Given the description of an element on the screen output the (x, y) to click on. 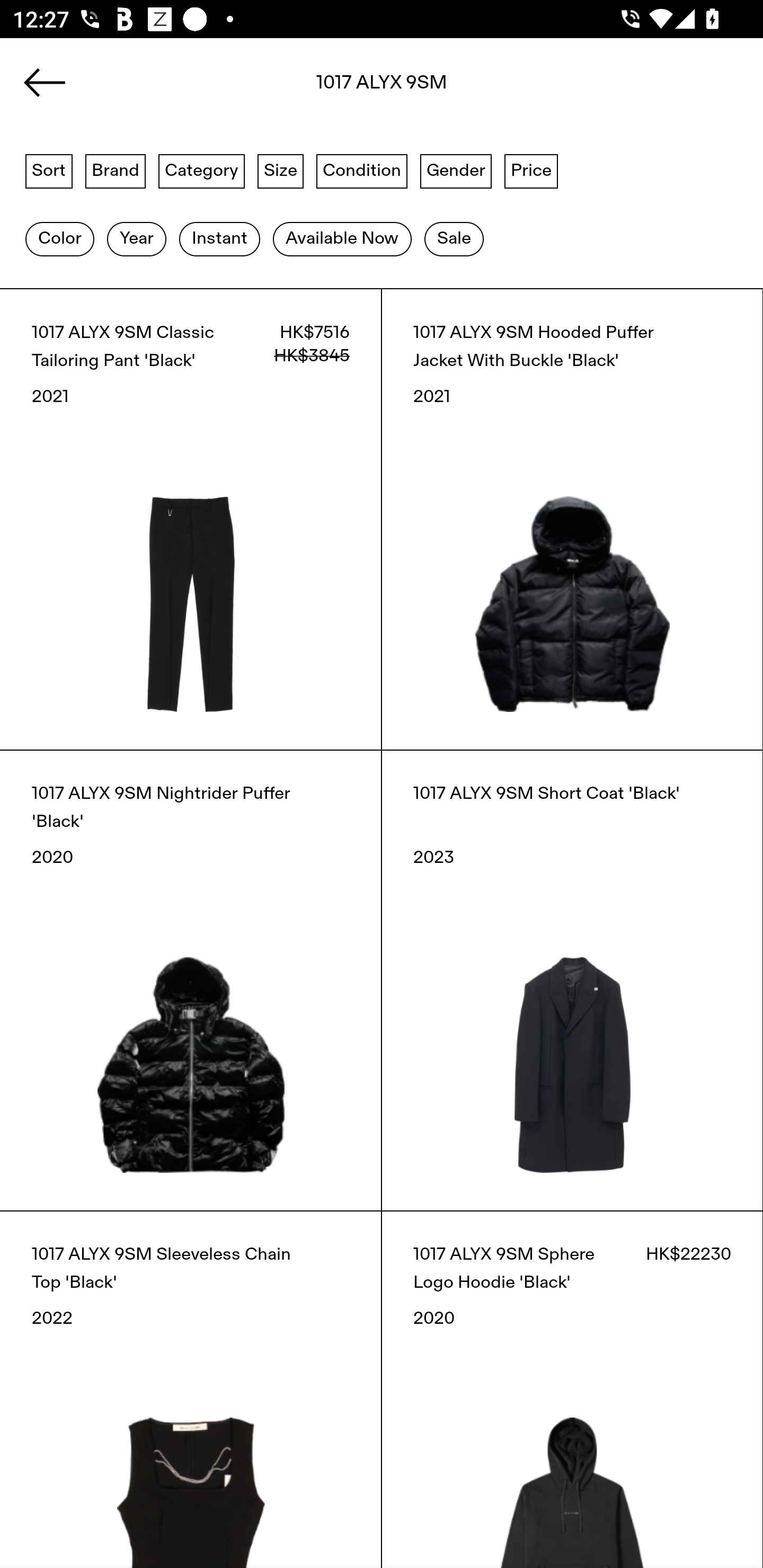
Search (381, 88)
Sort (48, 170)
Brand (115, 170)
Category (201, 170)
Size (280, 170)
Condition (361, 170)
Gender (455, 170)
Price (530, 170)
Color (59, 239)
Year (136, 239)
Instant (219, 239)
Available Now (342, 239)
Sale (453, 239)
1017 ALYX 9SM Nightrider Puffer 'Black' 2020 (190, 979)
1017 ALYX 9SM Short Coat 'Black' 2023 (572, 979)
1017 ALYX 9SM Sleeveless Chain Top 'Black' 2022 (190, 1389)
